Given the description of an element on the screen output the (x, y) to click on. 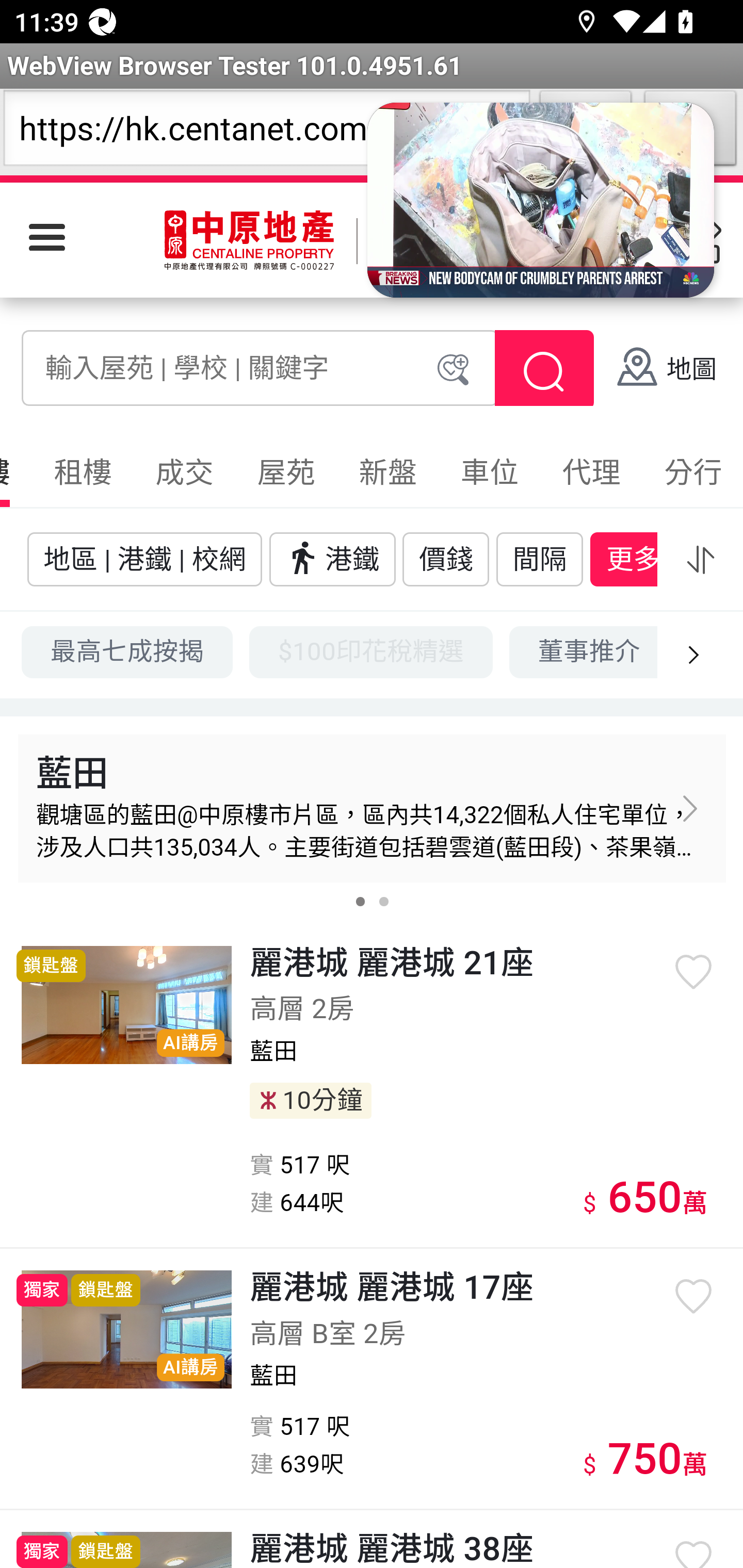
地圖 (665, 369)
 (544, 372)
租樓 (82, 472)
成交 (184, 472)
屋苑 (285, 472)
新盤 (387, 472)
車位 (488, 472)
代理 (590, 472)
分行 (691, 472)
 (700, 558)
地區 | 港鐵 | 校網 (144, 557)
港鐵 (332, 557)
價錢 (446, 557)
間隔 (539, 557)
更多 (632, 557)
最高七成按揭 (127, 651)
$100印花稅精選 (370, 651)
董事推介 (583, 651)
九成按揭 (713, 651)
 (689, 807)
麗港城 麗港城 21座放盤 (126, 1003)
麗港城 麗港城 17座放盤 (126, 1330)
